Given the description of an element on the screen output the (x, y) to click on. 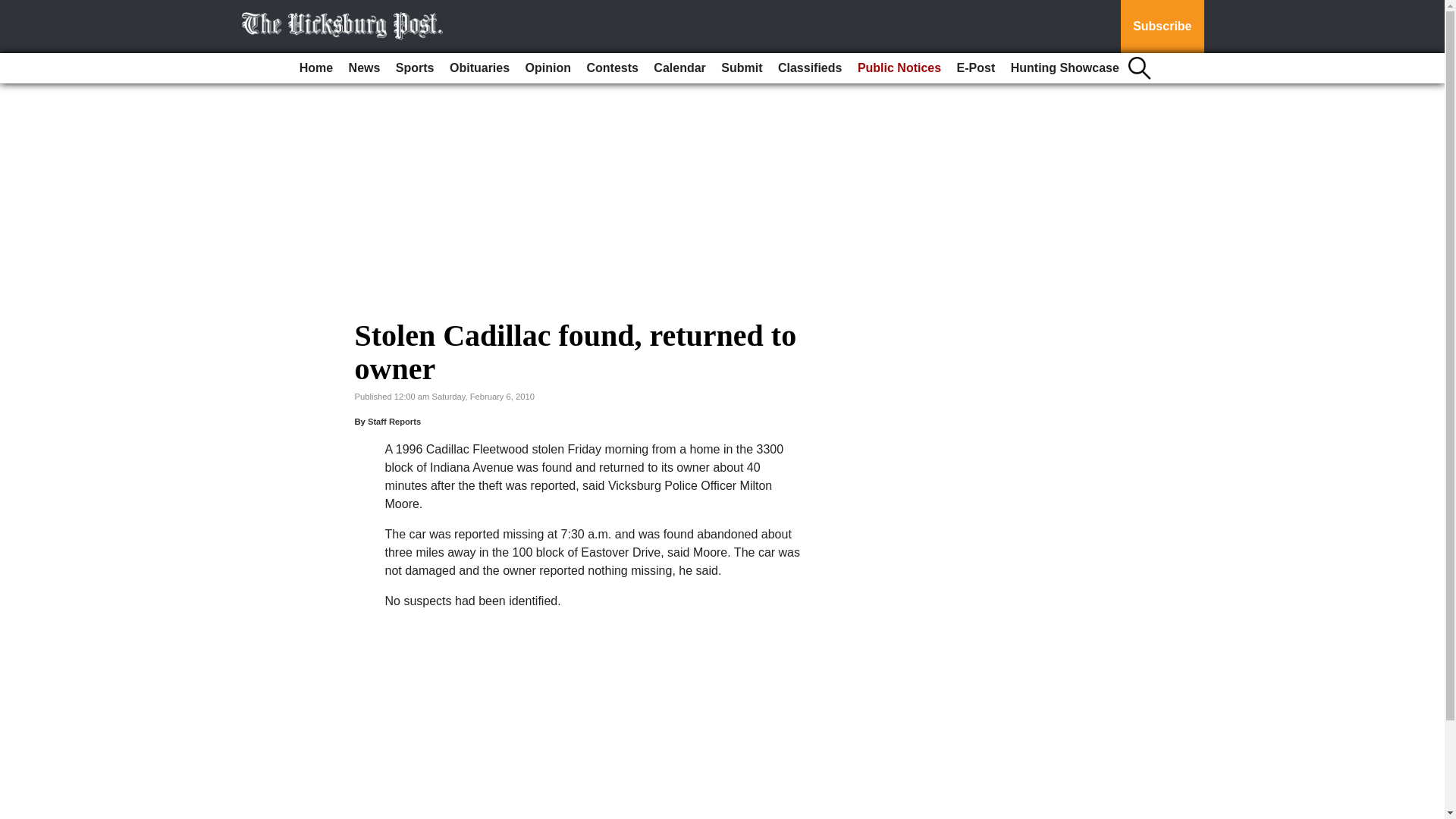
Home (316, 68)
Contests (611, 68)
Go (13, 9)
Sports (415, 68)
Subscribe (1162, 26)
Hunting Showcase (1064, 68)
Calendar (679, 68)
Classifieds (809, 68)
Submit (741, 68)
E-Post (975, 68)
